Given the description of an element on the screen output the (x, y) to click on. 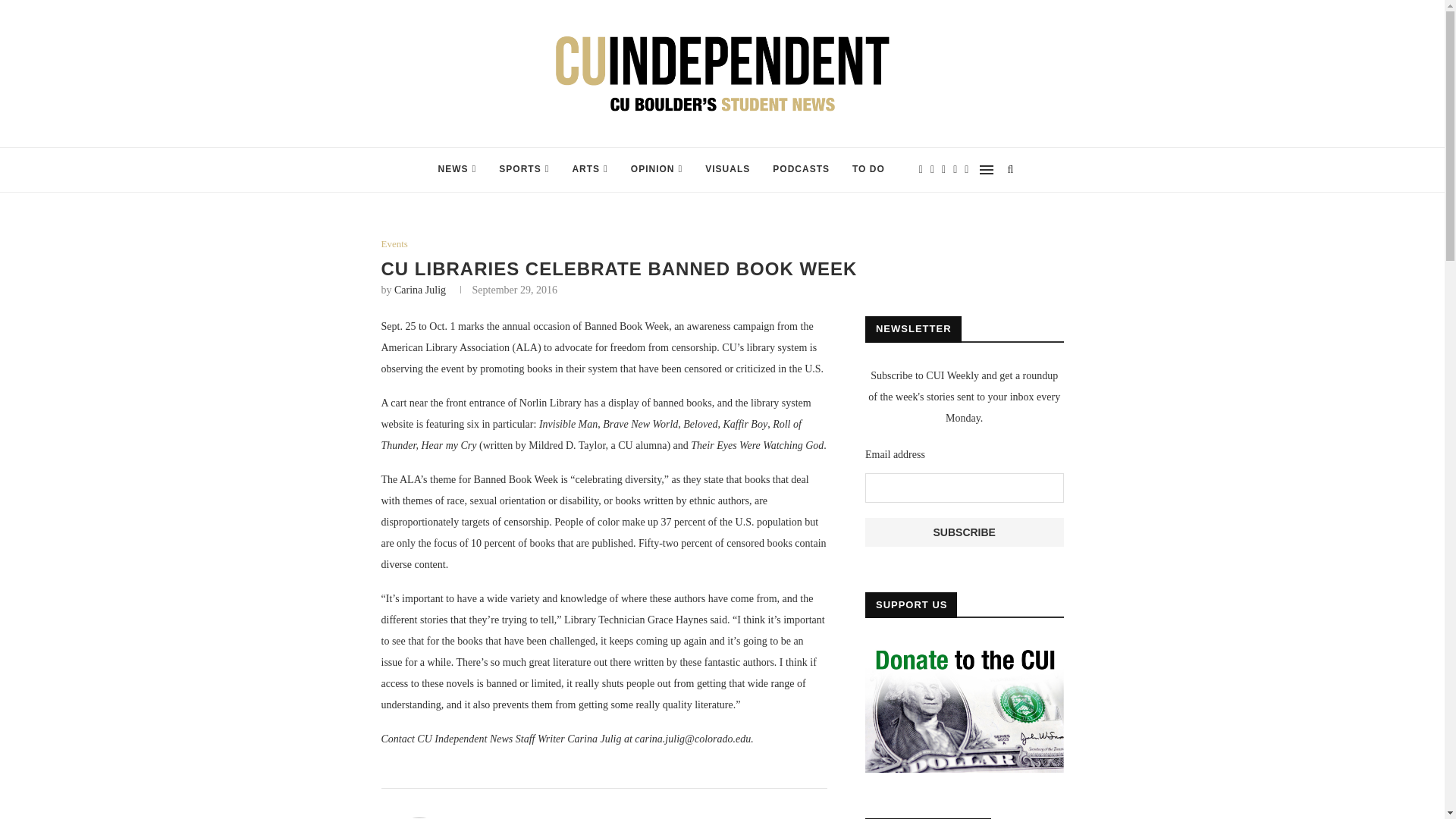
Subscribe (964, 532)
Posts by Carina Julig (513, 818)
